Given the description of an element on the screen output the (x, y) to click on. 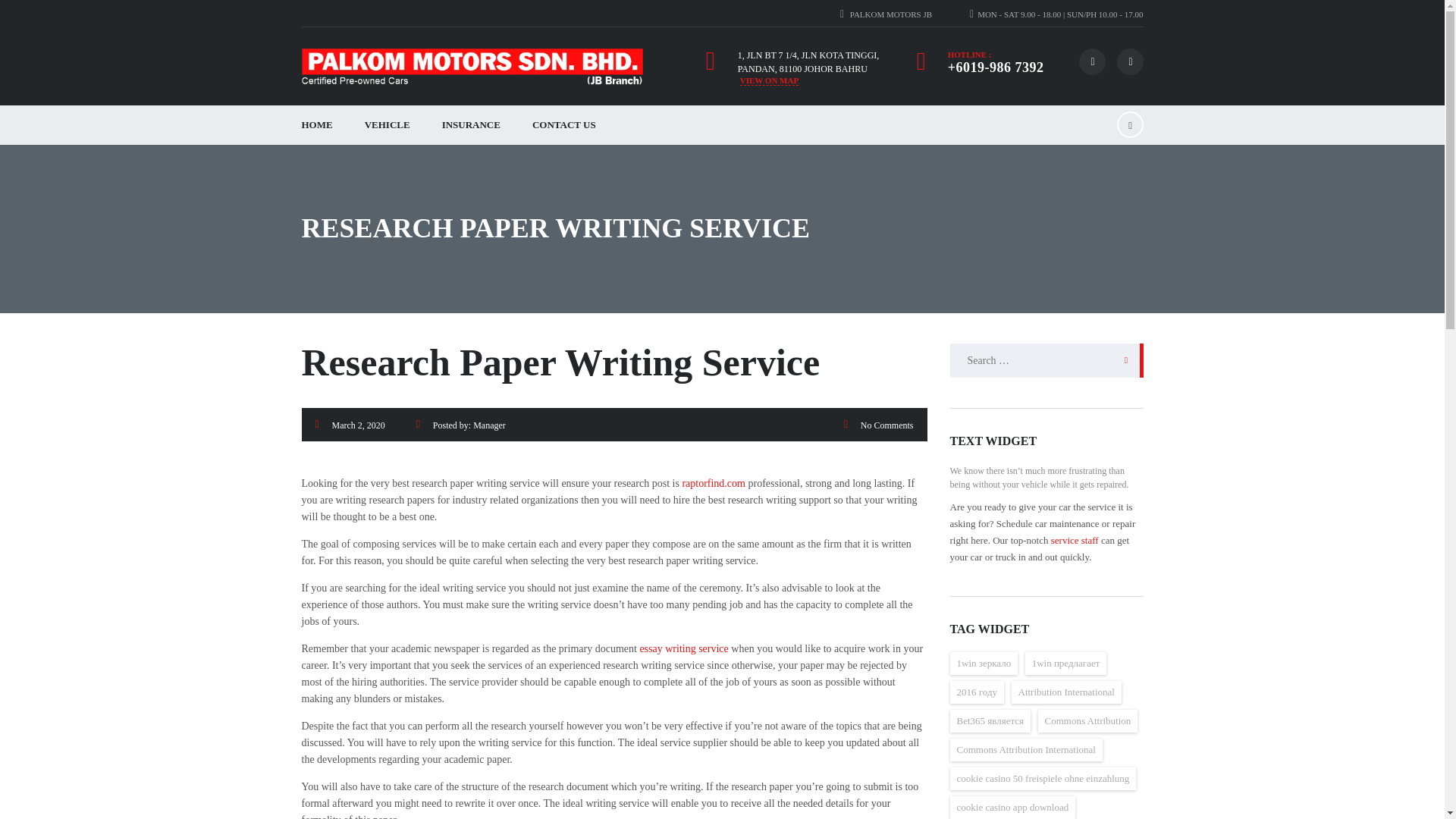
No Comments (887, 425)
cookie casino app download (1012, 807)
Commons Attribution (1088, 721)
Home (472, 66)
CONTACT US (563, 124)
Search (1121, 360)
Commons Attribution International (1025, 749)
VEHICLE (387, 124)
cookie casino 50 freispiele ohne einzahlung (1042, 778)
INSURANCE (471, 124)
